Given the description of an element on the screen output the (x, y) to click on. 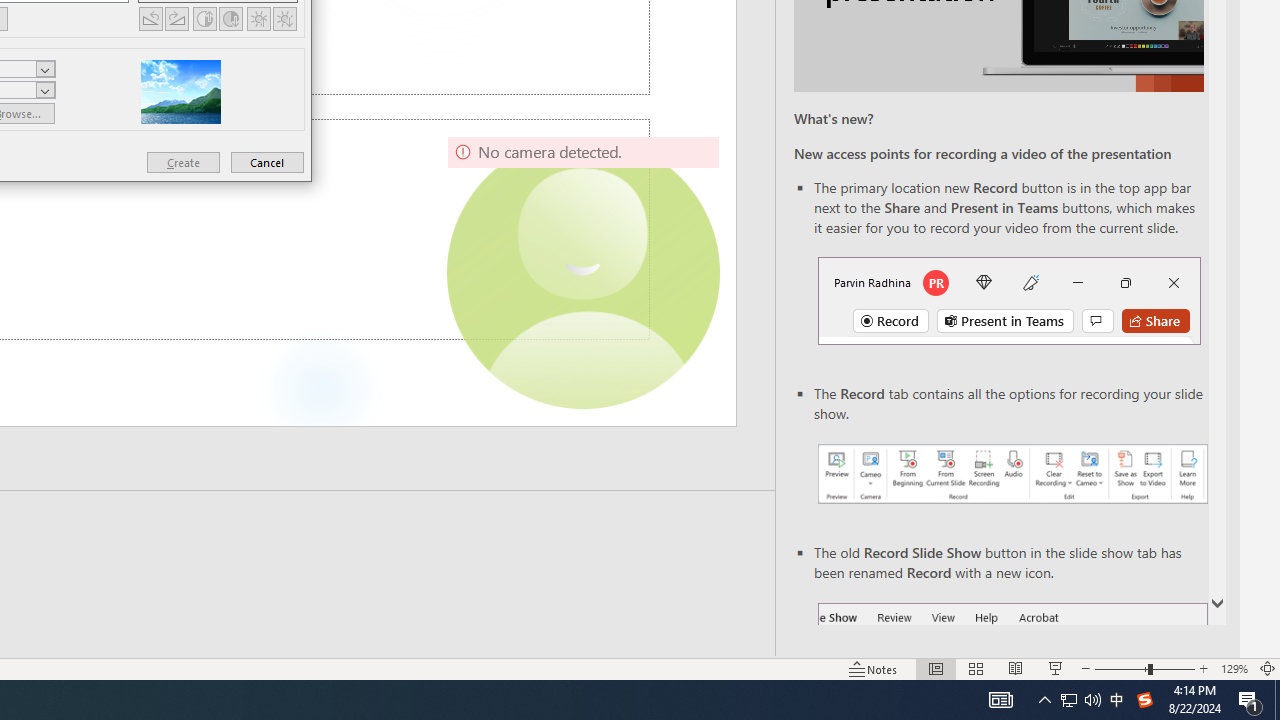
More Brightness (258, 18)
Q2790: 100% (1092, 699)
Create (183, 162)
Record button in top bar (1008, 300)
Zoom 129% (1234, 668)
Open (45, 89)
Show desktop (1277, 699)
Cancel (267, 162)
Less Brightness (284, 18)
